Given the description of an element on the screen output the (x, y) to click on. 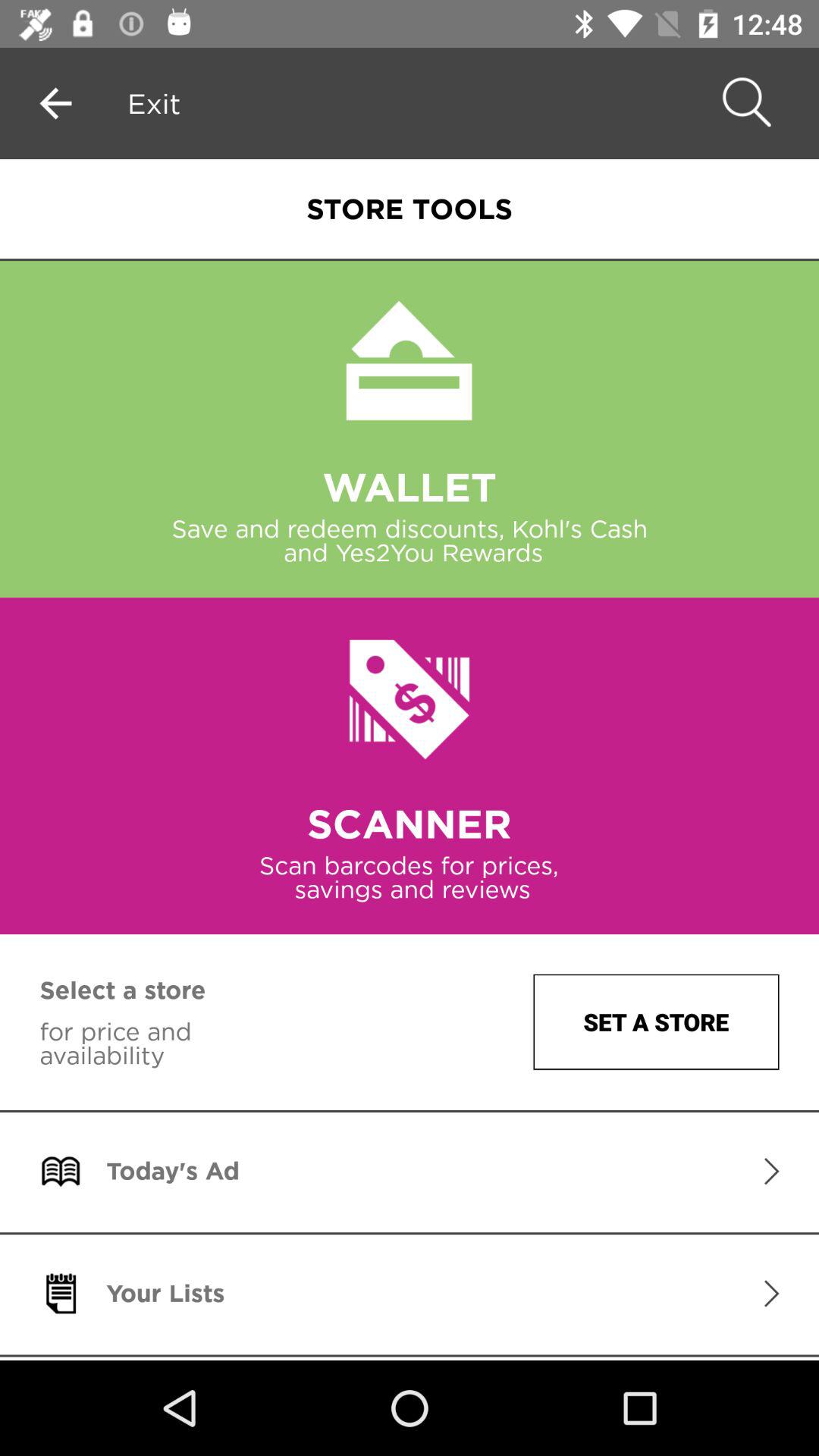
choose exit icon (153, 103)
